Given the description of an element on the screen output the (x, y) to click on. 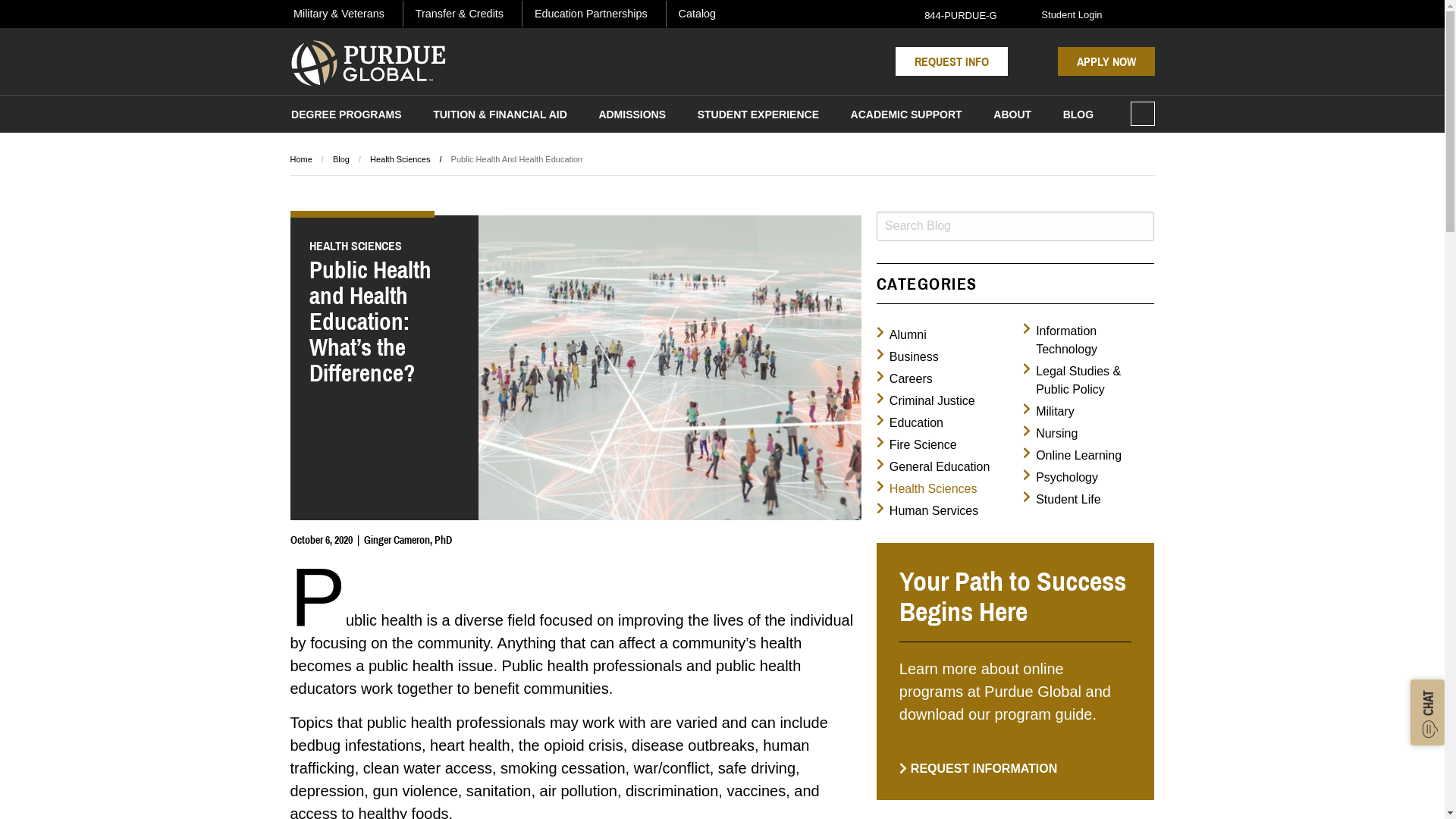
Student Life Element type: text (1061, 499)
Careers Element type: text (904, 379)
Psychology Element type: text (1060, 477)
Search Blog Button Element type: hover (1140, 226)
Nursing Element type: text (1049, 433)
Fire Science Element type: text (916, 445)
TUITION & FINANCIAL AID Element type: text (500, 116)
Education Partnerships Element type: text (590, 13)
DEGREE PROGRAMS Element type: text (345, 116)
ADMISSIONS Element type: text (632, 116)
Health Sciences Element type: text (400, 158)
HEALTH SCIENCES Element type: text (384, 245)
Human Services Element type: text (927, 511)
Business Element type: text (907, 357)
Blog Element type: text (340, 158)
General Education Element type: text (933, 467)
Information Technology Element type: text (1088, 340)
Catalog Element type: text (696, 13)
844-PURDUE-G Element type: text (951, 13)
Legal Studies & Public Policy Element type: text (1088, 380)
REQUEST INFORMATION Element type: text (978, 768)
ABOUT Element type: text (1012, 116)
Education Element type: text (909, 423)
ACADEMIC SUPPORT Element type: text (906, 116)
Transfer & Credits Element type: text (458, 13)
Home Element type: text (300, 158)
Student Login Element type: text (1062, 13)
STUDENT EXPERIENCE Element type: text (757, 116)
Military Element type: text (1048, 411)
Alumni Element type: text (901, 335)
Search Blog Element type: hover (1015, 226)
BLOG Element type: text (1078, 116)
APPLY NOW Element type: text (1105, 61)
Health Sciences Element type: text (926, 489)
Online Learning Element type: text (1071, 455)
Military & Veterans Element type: text (338, 13)
Criminal Justice Element type: text (925, 401)
REQUEST INFO Element type: text (951, 61)
